Given the description of an element on the screen output the (x, y) to click on. 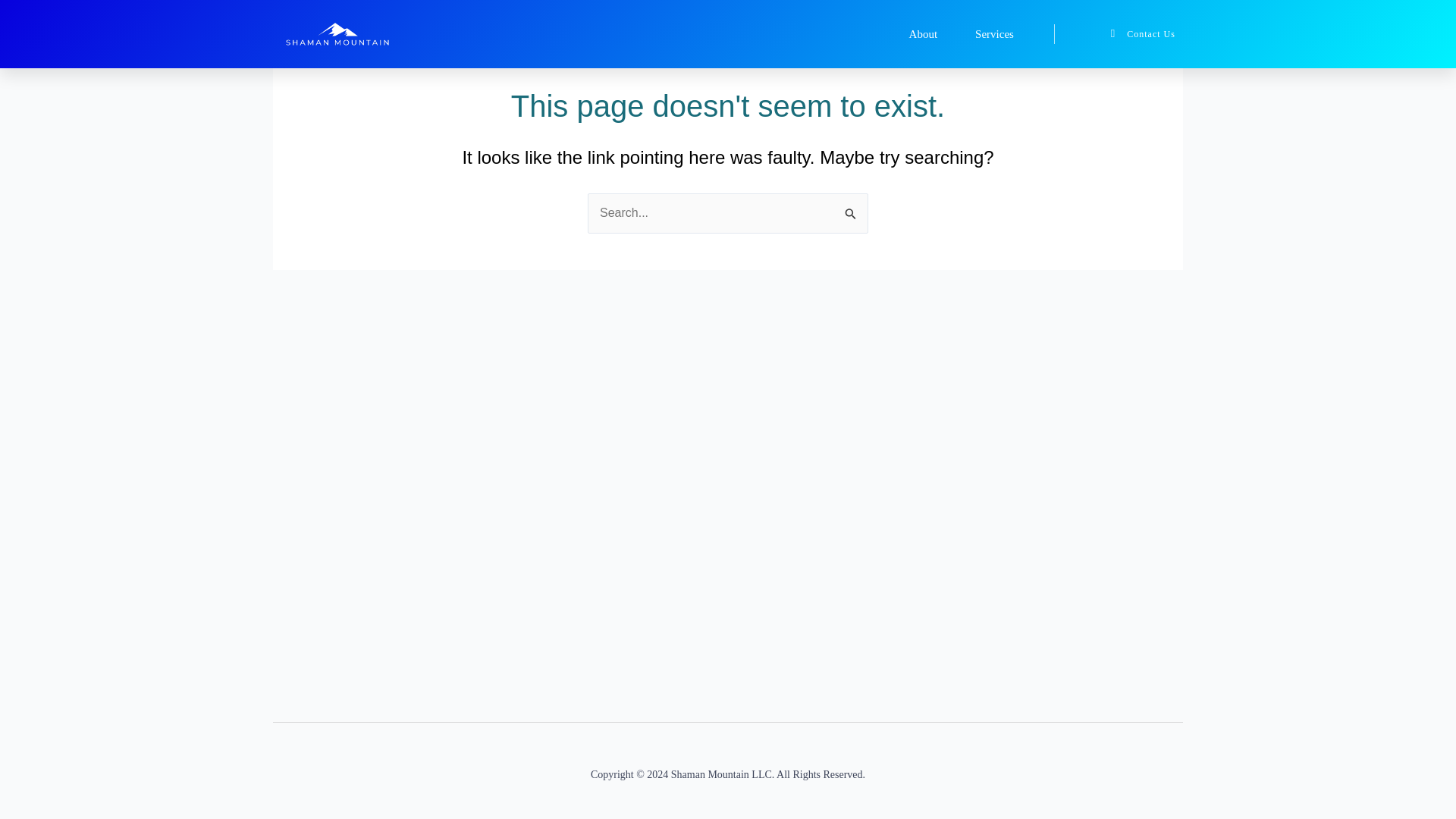
Search (850, 209)
Search (850, 209)
Contact Us (1138, 34)
Search (850, 209)
